Given the description of an element on the screen output the (x, y) to click on. 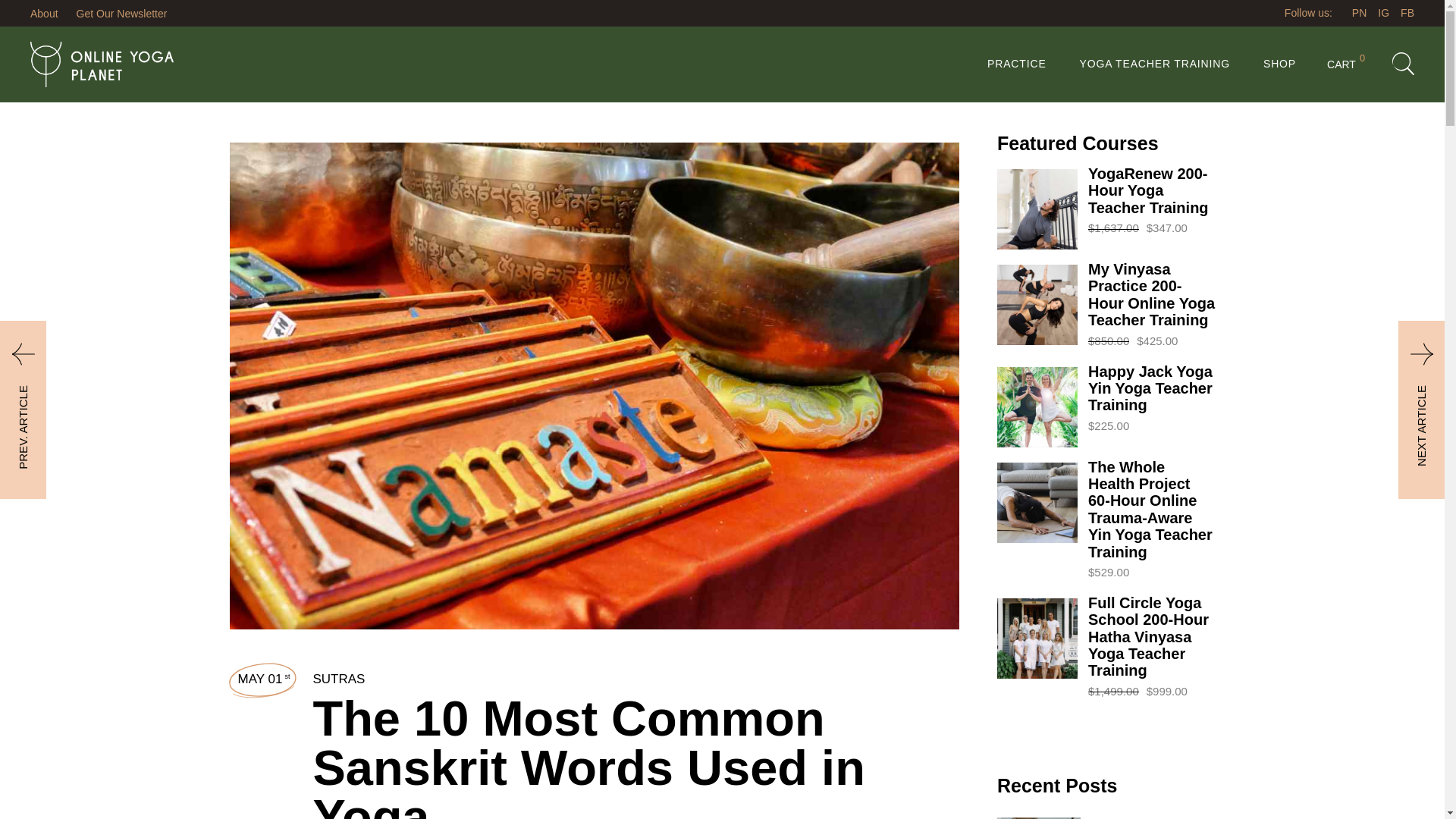
YOGA TEACHER TRAINING (1345, 63)
About (1155, 64)
Get Our Newsletter (44, 13)
